Given the description of an element on the screen output the (x, y) to click on. 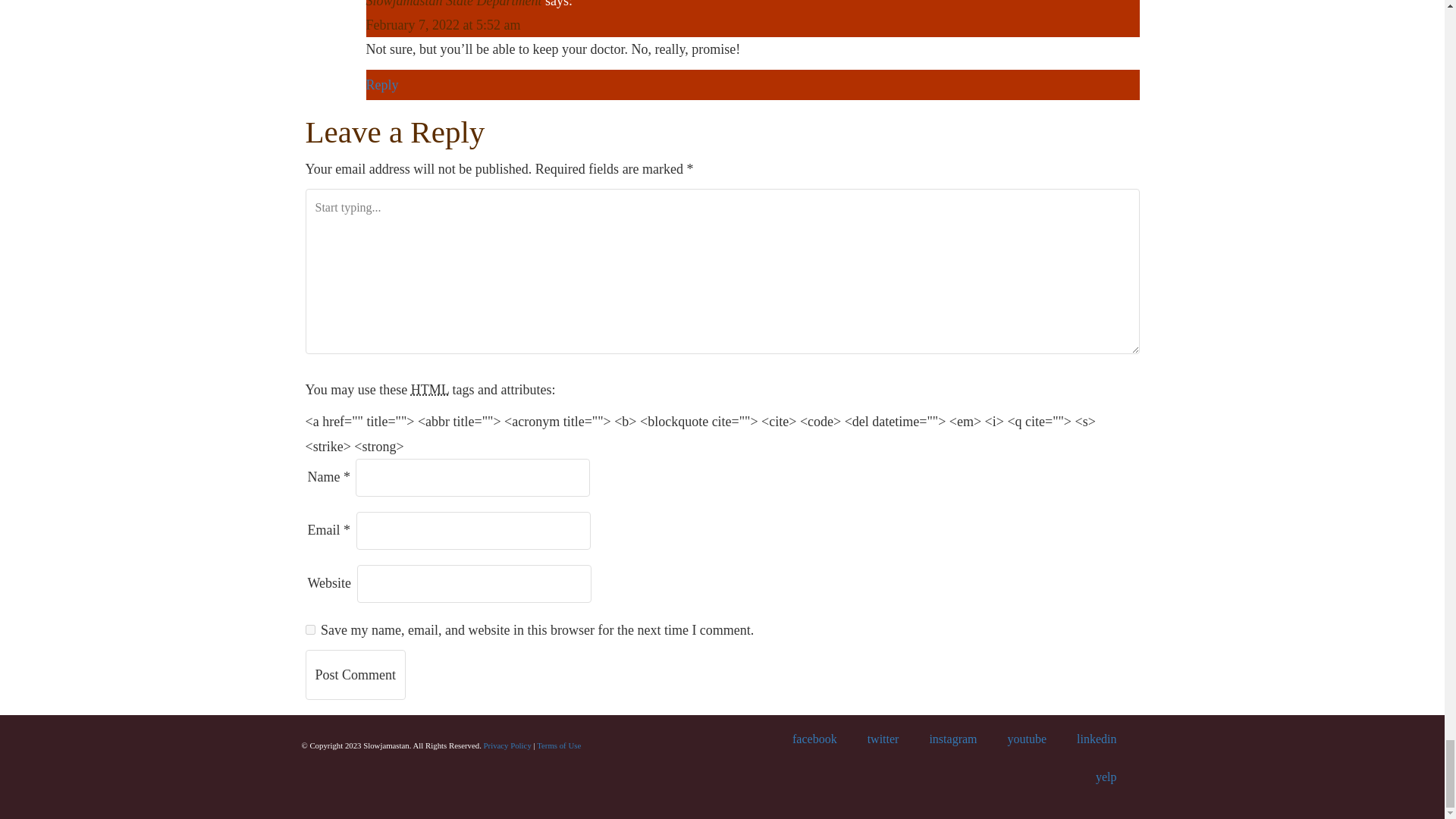
Post Comment (355, 675)
HyperText Markup Language (429, 389)
yes (309, 629)
